Given the description of an element on the screen output the (x, y) to click on. 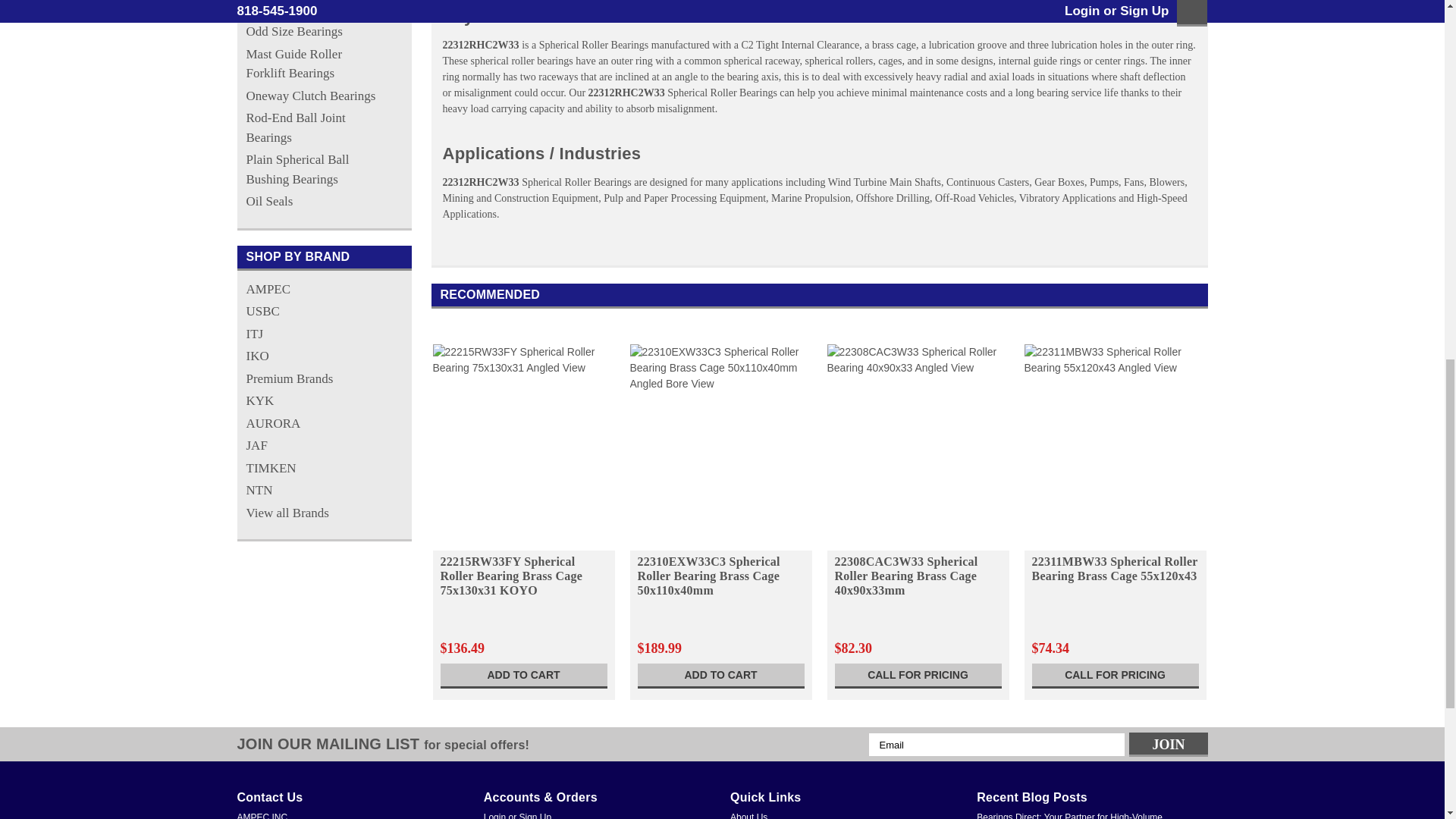
Join (1168, 744)
